Given the description of an element on the screen output the (x, y) to click on. 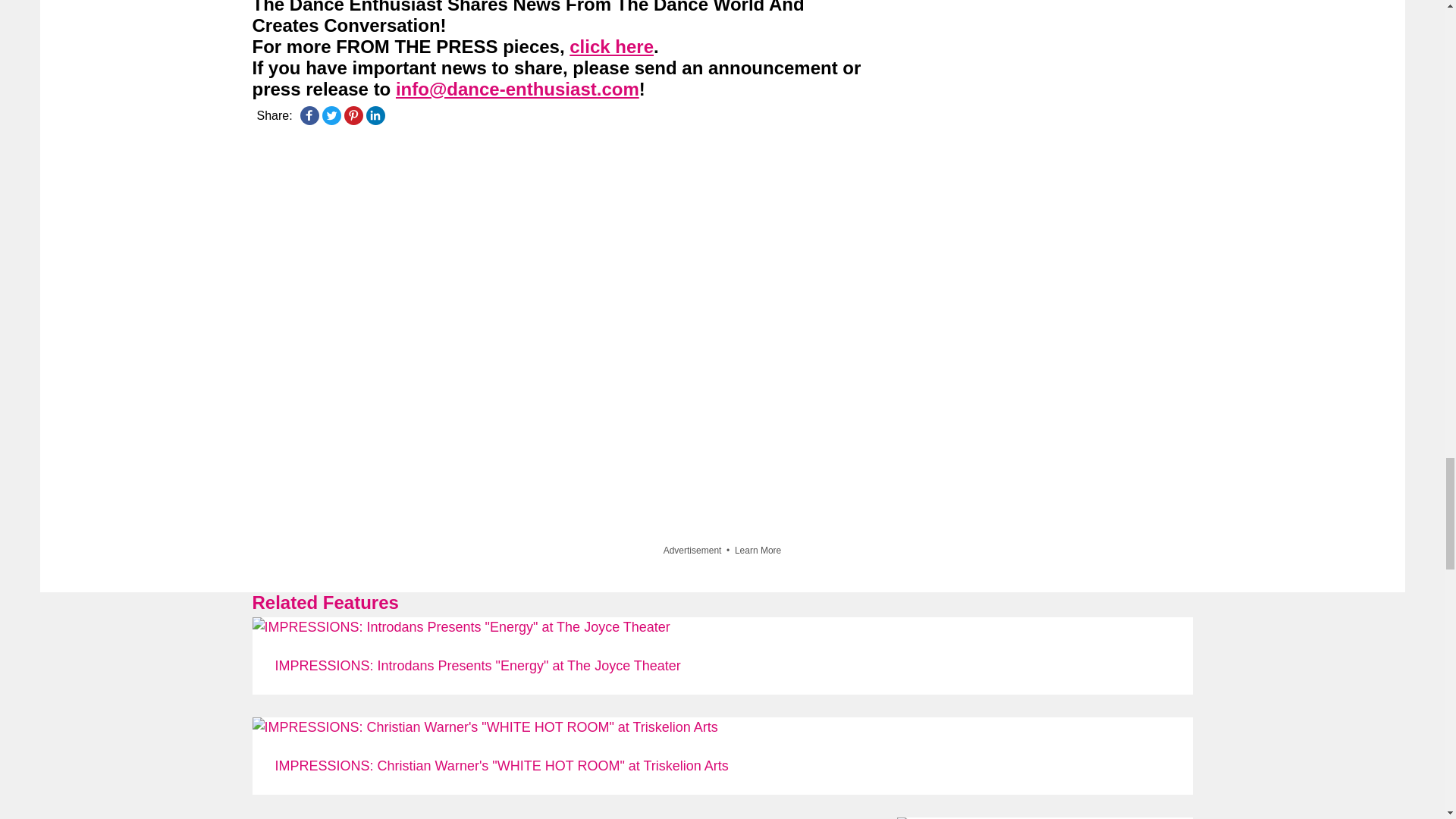
Twitter (331, 114)
Facebook (309, 114)
Pinterest (353, 114)
LinkedIn (375, 114)
